Given the description of an element on the screen output the (x, y) to click on. 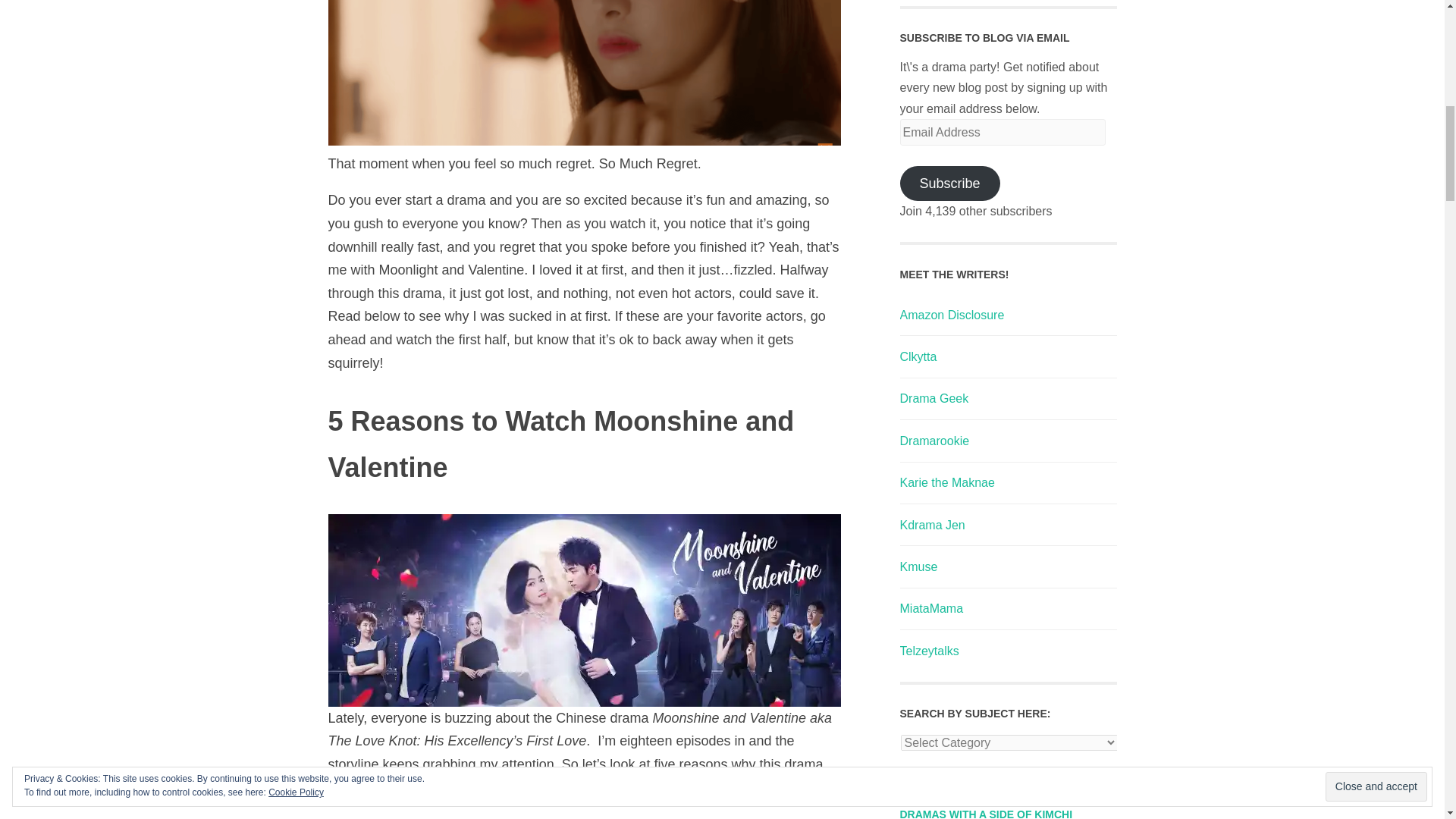
Telzeytalks (928, 650)
Subscribe (948, 183)
Kmuse (918, 566)
Dramarookie (934, 440)
Karie the Maknae (946, 481)
Kdrama Jen (931, 524)
Clkytta (917, 356)
MiataMama (930, 608)
Amazon Disclosure (951, 314)
Drama Geek (933, 398)
